Given the description of an element on the screen output the (x, y) to click on. 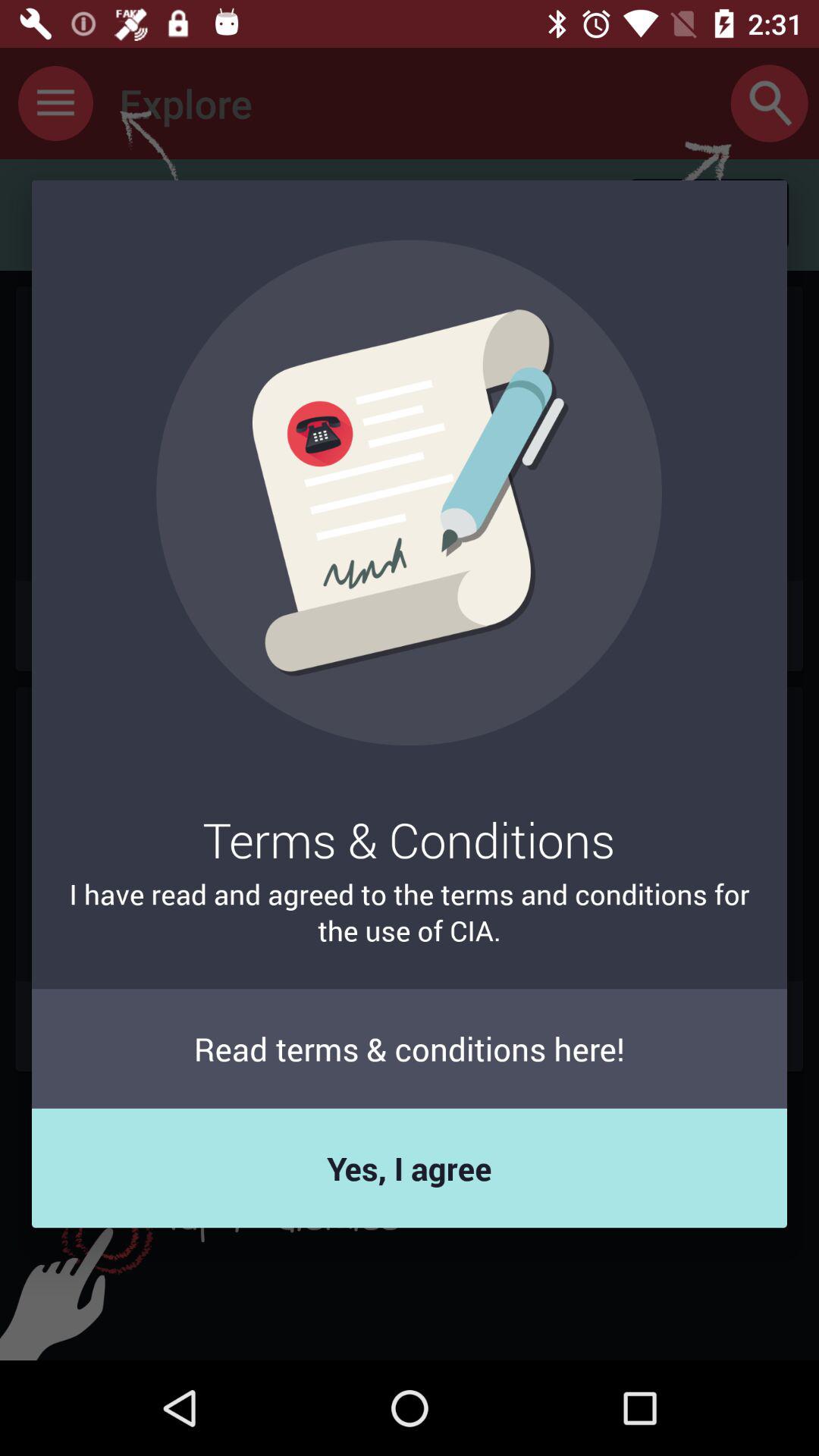
select the item below read terms conditions item (409, 1167)
